Given the description of an element on the screen output the (x, y) to click on. 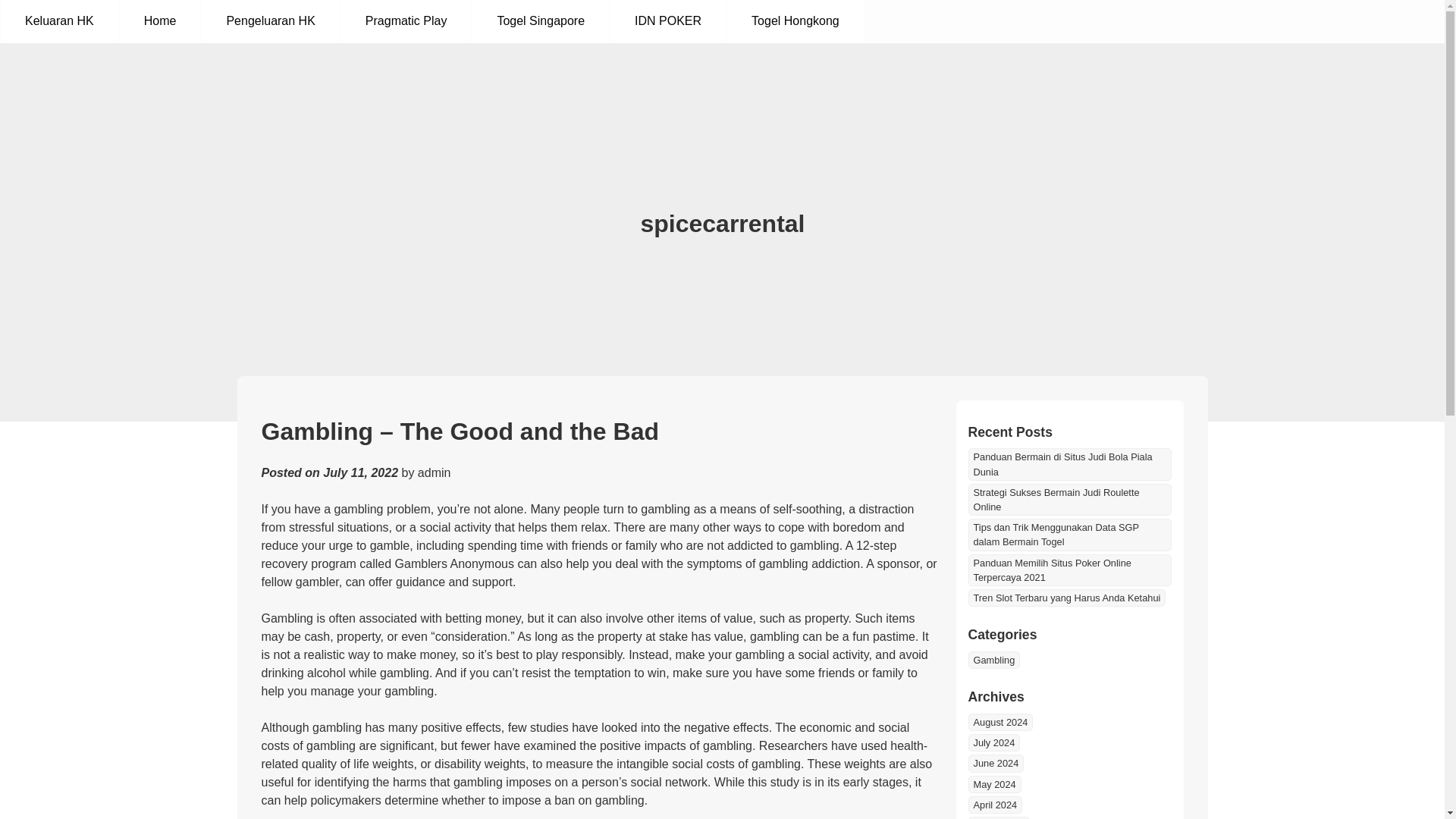
admin (434, 472)
Tren Slot Terbaru yang Harus Anda Ketahui (1067, 597)
April 2024 (995, 805)
July 11, 2022 (360, 472)
Pragmatic Play (405, 21)
Togel Hongkong (794, 21)
IDN POKER (667, 21)
Keluaran HK (59, 21)
Home (159, 21)
Panduan Memilih Situs Poker Online Terpercaya 2021 (1069, 570)
Gambling (994, 660)
Strategi Sukses Bermain Judi Roulette Online (1069, 499)
July 2024 (994, 742)
Panduan Bermain di Situs Judi Bola Piala Dunia (1069, 463)
Pengeluaran HK (270, 21)
